Given the description of an element on the screen output the (x, y) to click on. 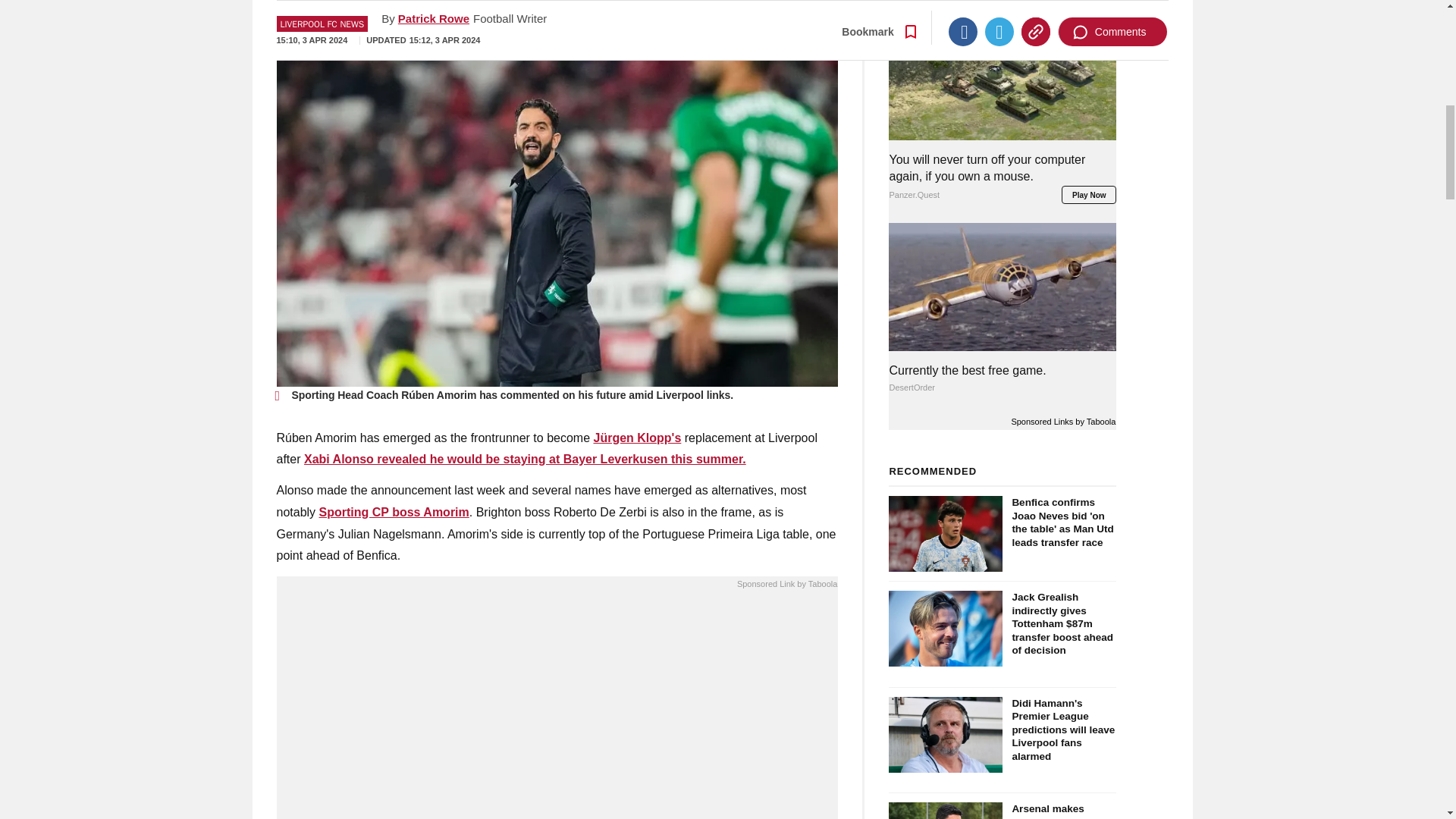
If you own a mouse, you have to play this game. (557, 708)
